Given the description of an element on the screen output the (x, y) to click on. 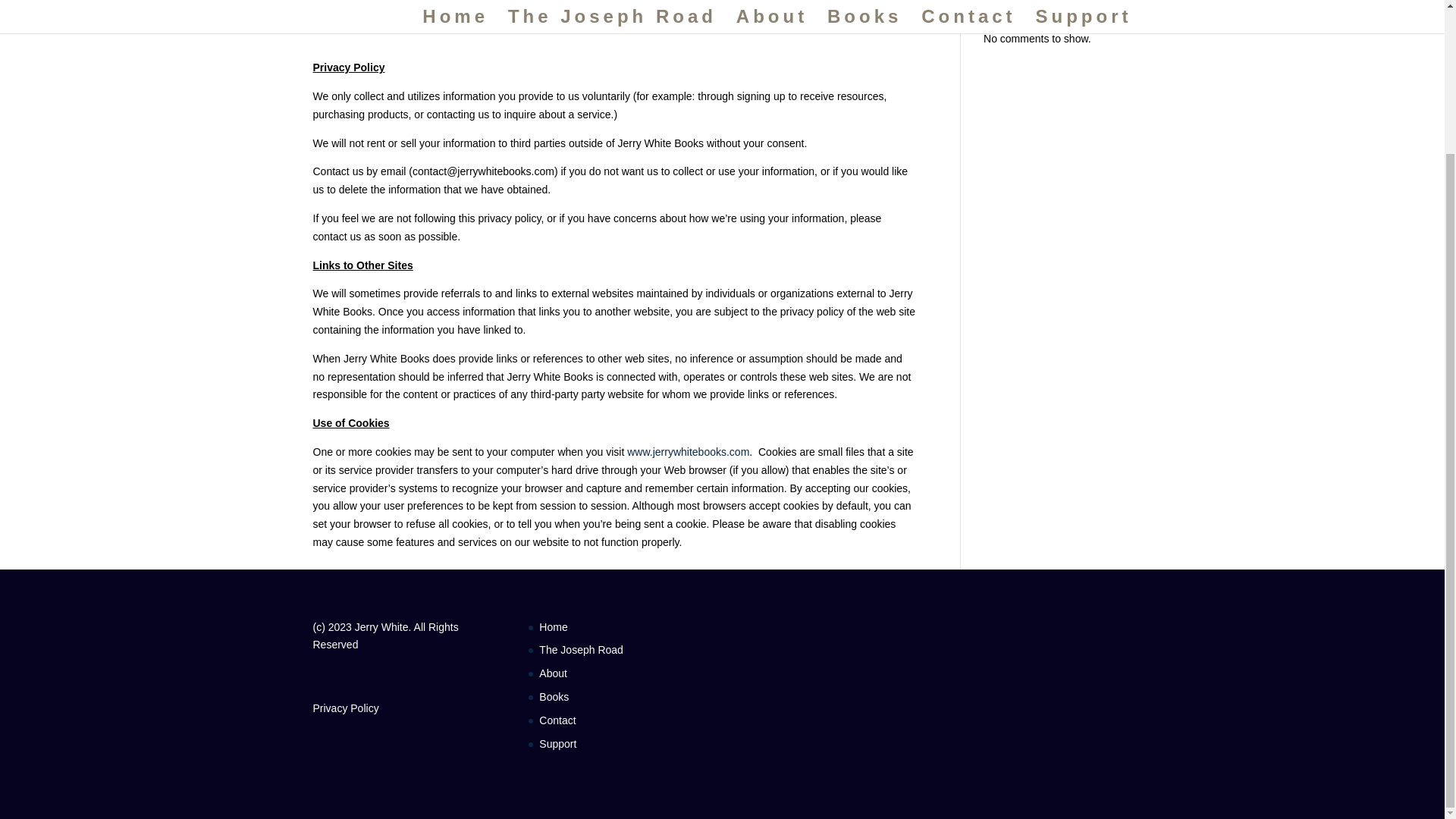
Contact (556, 720)
The Joseph Road (580, 649)
Books (553, 696)
Support (557, 743)
About (552, 673)
Privacy Policy (345, 707)
Home (552, 626)
www.jerrywhitebooks.com (688, 451)
